Given the description of an element on the screen output the (x, y) to click on. 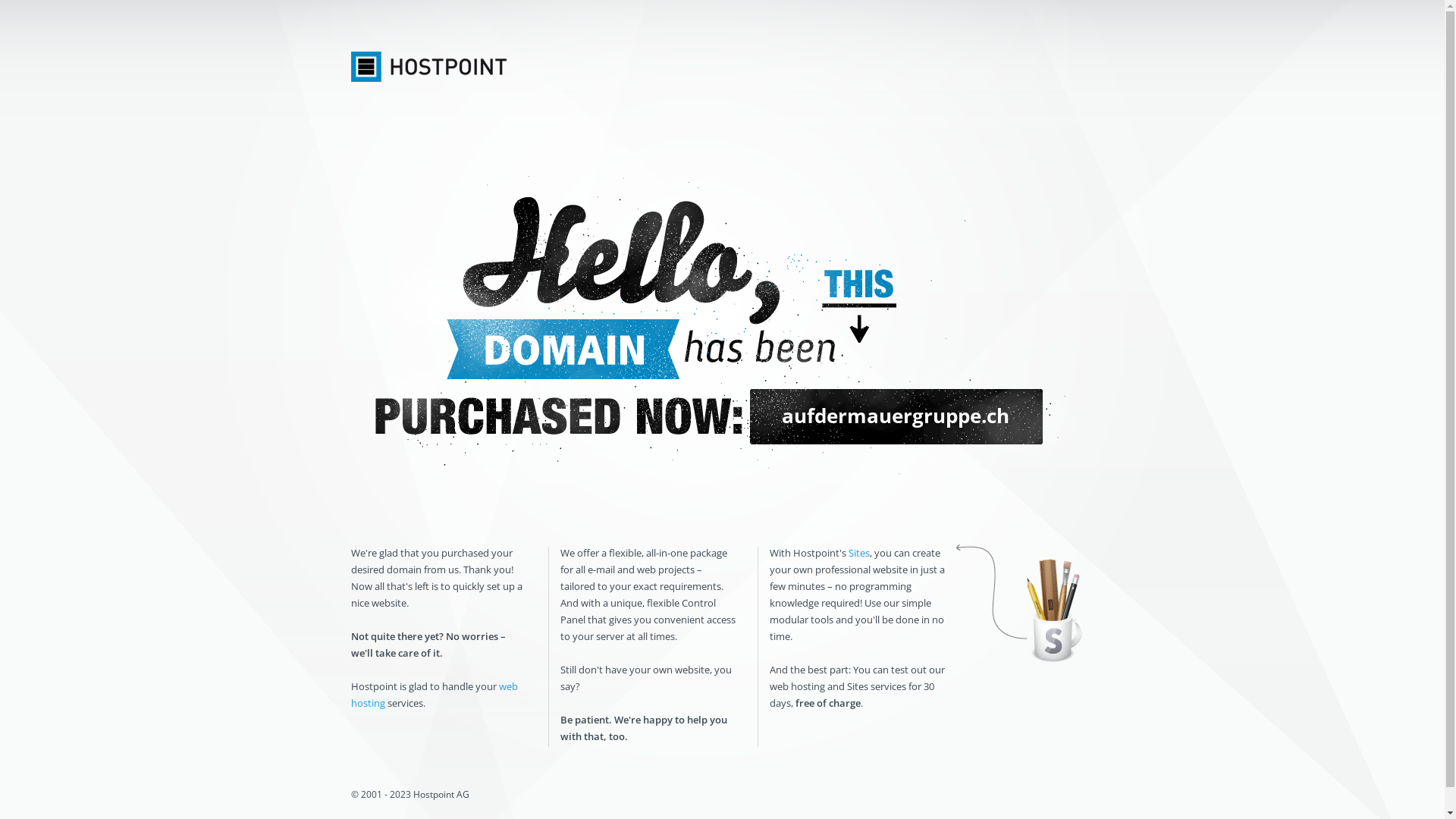
web hosting Element type: text (433, 694)
Sites Element type: text (858, 552)
